Given the description of an element on the screen output the (x, y) to click on. 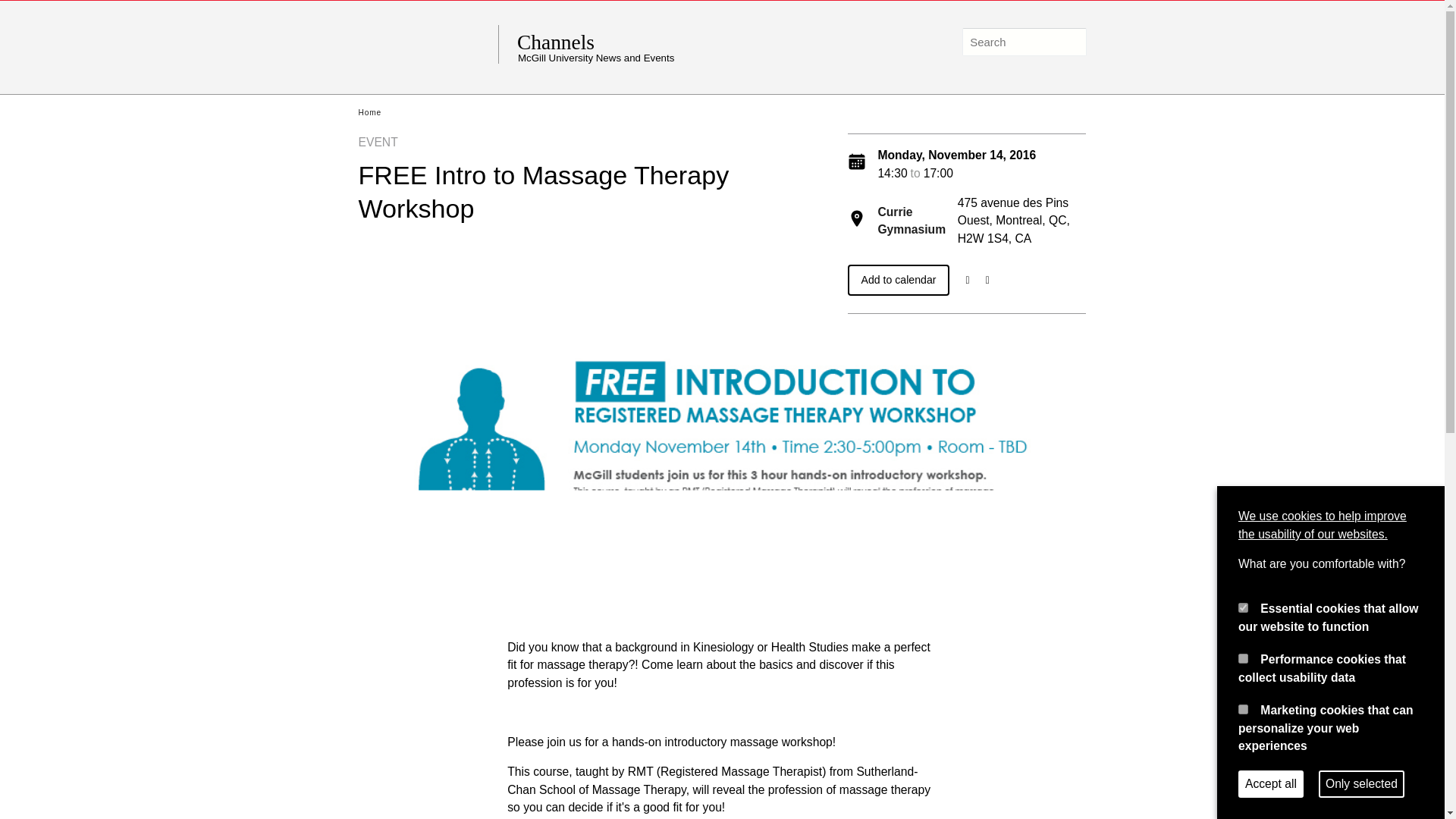
Only selected (1362, 783)
Search (1070, 42)
Add to calendar (898, 279)
return to McGill University (427, 44)
Search (1070, 42)
Channels (664, 42)
Add to calendar (898, 279)
marketing (1243, 709)
Publish this post to LinkedIn (987, 279)
Accept all (1271, 783)
Home (369, 112)
McGill University (427, 44)
performance (1243, 658)
required (1243, 607)
